Given the description of an element on the screen output the (x, y) to click on. 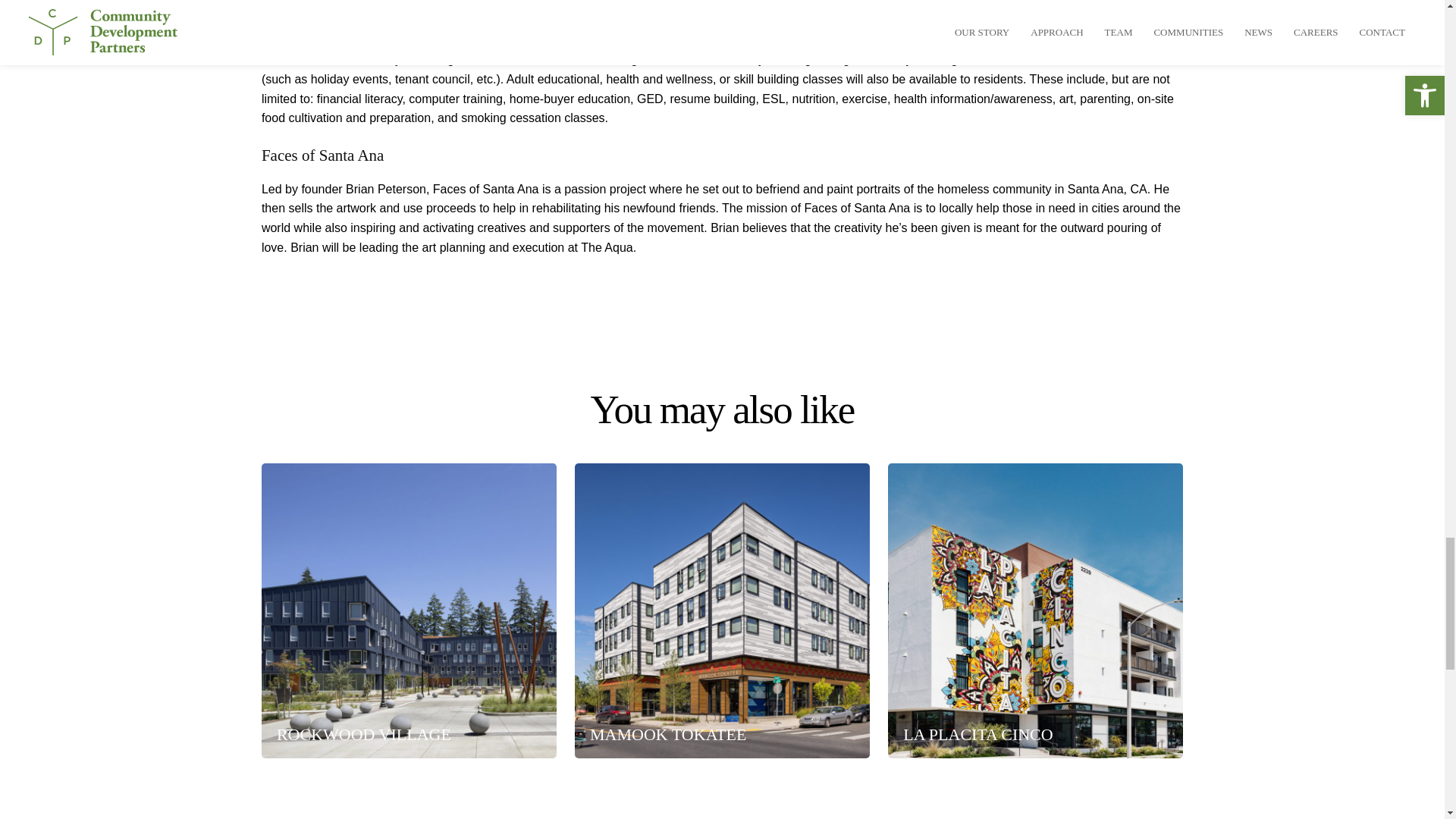
LA PLACITA CINCO (1035, 748)
ROCKWOOD VILLAGE (409, 748)
MAMOOK TOKATEE (722, 748)
